Given the description of an element on the screen output the (x, y) to click on. 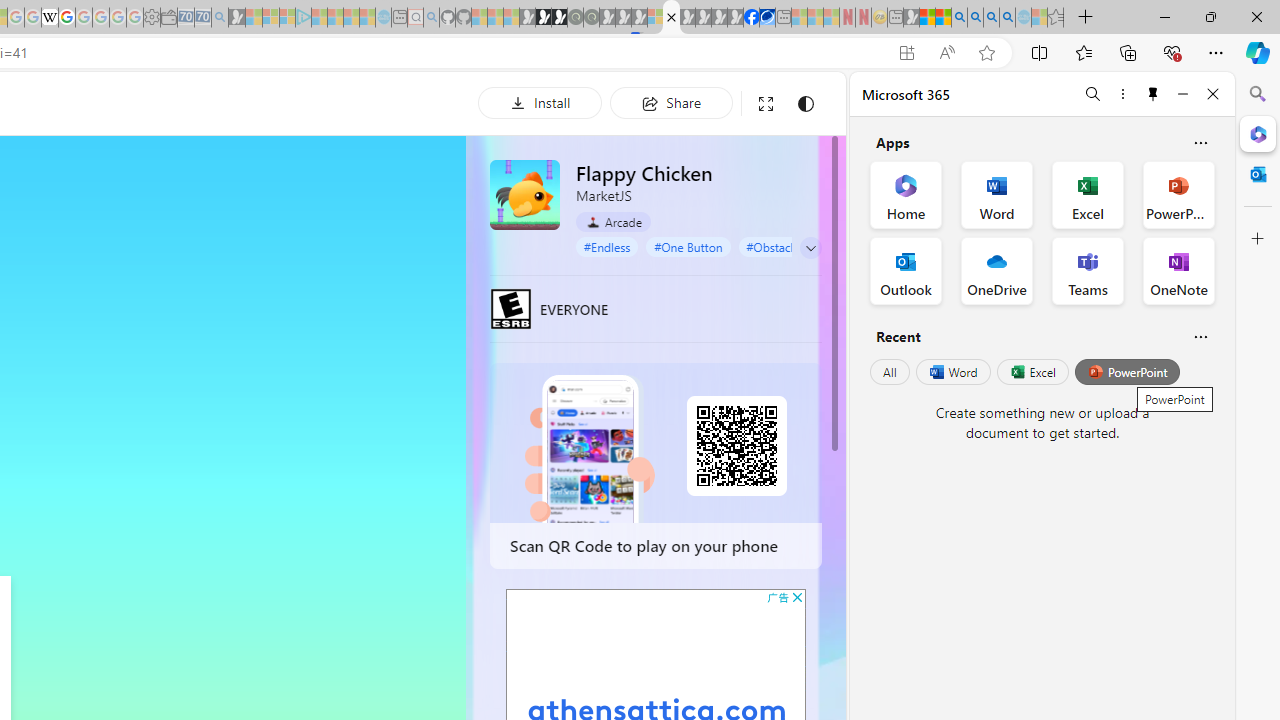
PowerPoint (1127, 372)
Settings - Sleeping (151, 17)
Is this helpful? (1200, 336)
Future Focus Report 2024 - Sleeping (591, 17)
PowerPoint Office App (1178, 194)
Nordace | Facebook (751, 17)
